Given the description of an element on the screen output the (x, y) to click on. 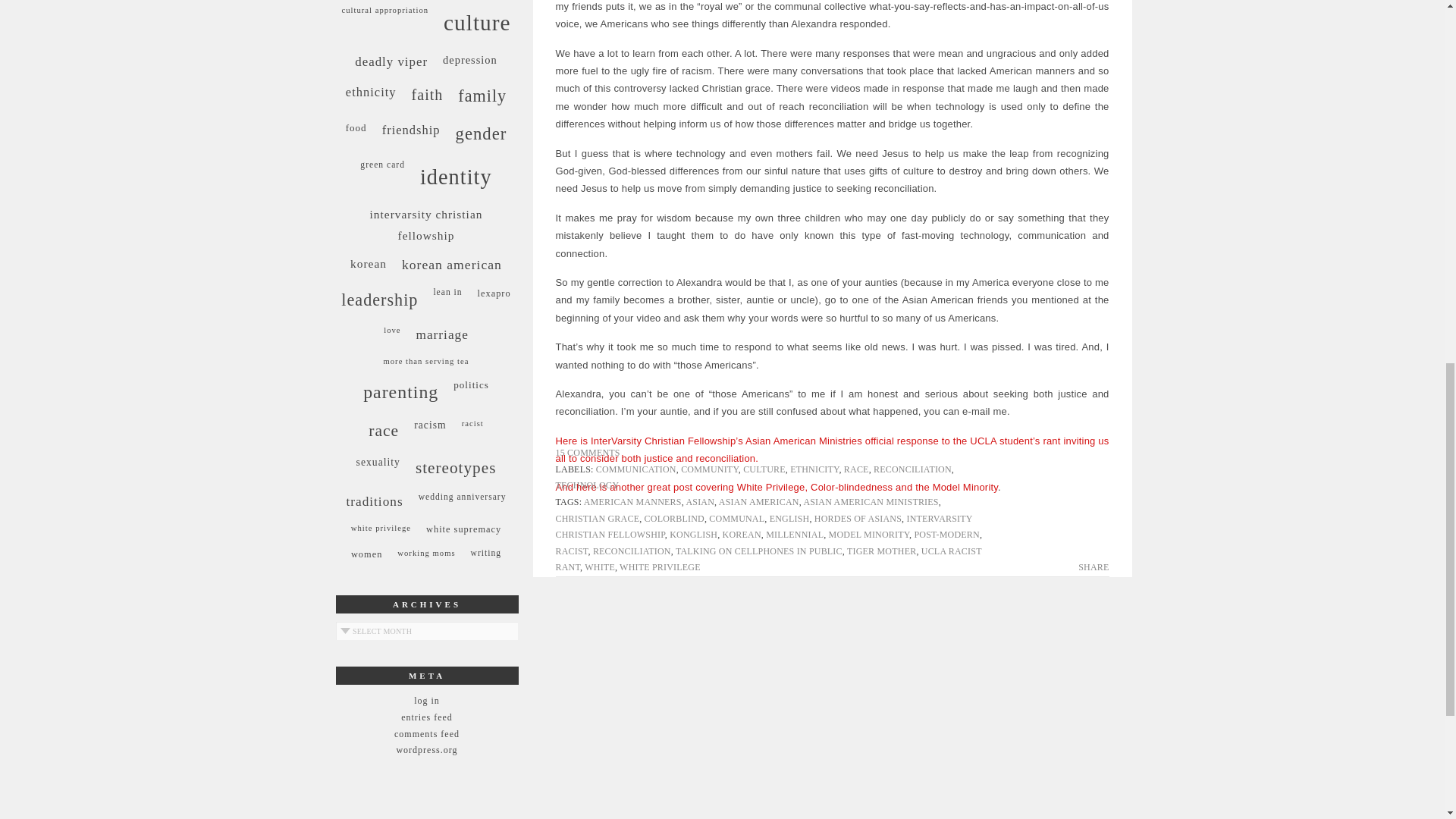
TECHNOLOGY (586, 484)
INTERVARSITY CHRISTIAN FELLOWSHIP (763, 525)
HORDES OF ASIANS (857, 517)
COMMUNITY (709, 469)
WHITE (599, 566)
ASIAN AMERICAN MINISTRIES (870, 501)
COMMUNAL (736, 517)
MODEL MINORITY (868, 534)
ASIAN AMERICAN (759, 501)
